Given the description of an element on the screen output the (x, y) to click on. 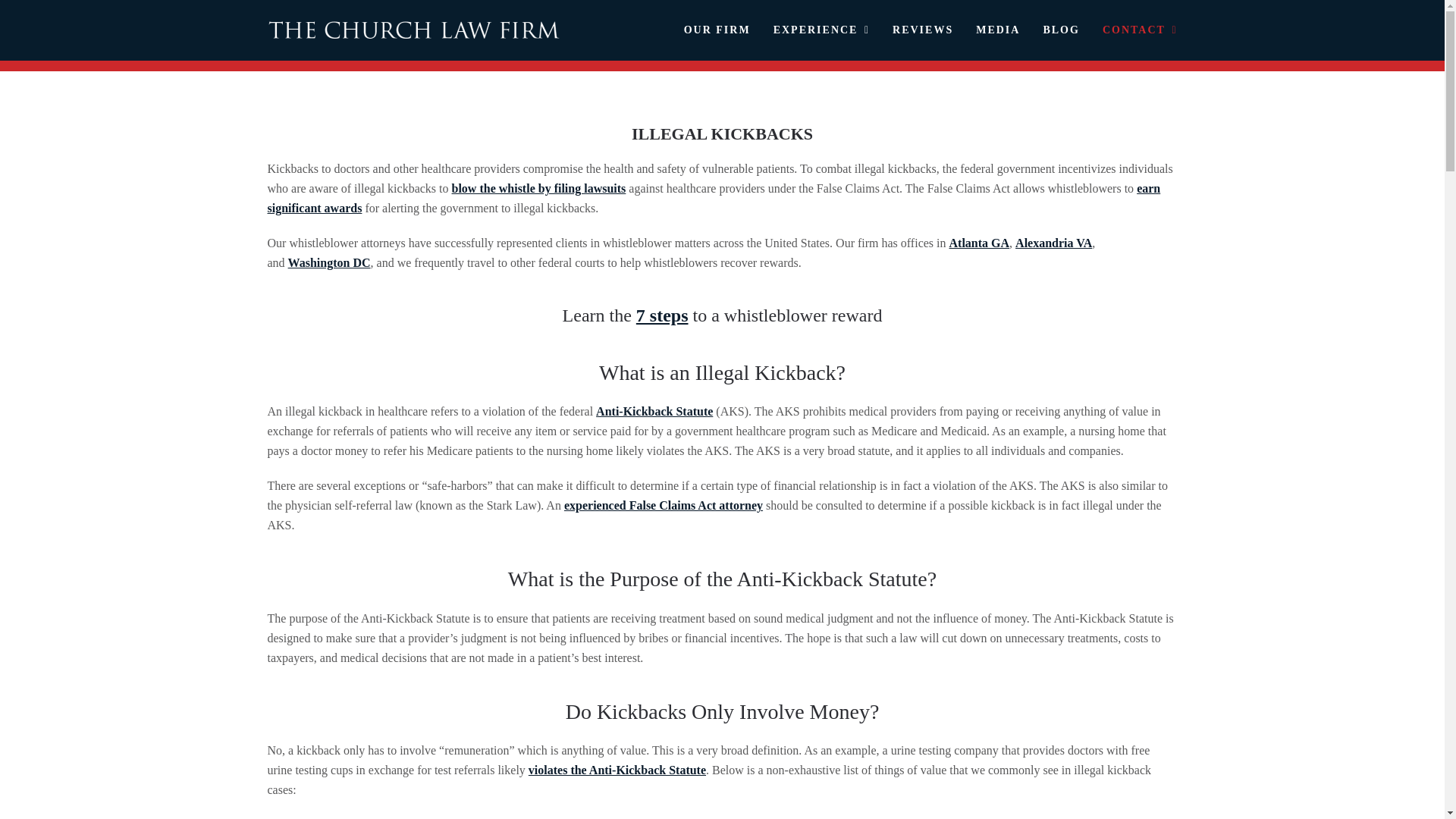
blow the whistle by filing lawsuits (538, 187)
Alexandria VA (1053, 242)
Washington DC (329, 262)
7 steps (662, 315)
MEDIA (996, 30)
BLOG (1060, 30)
experienced False Claims Act attorney (663, 504)
OUR FIRM (716, 30)
earn significant awards (713, 197)
REVIEWS (921, 30)
Atlanta GA (979, 242)
violates the Anti-Kickback Statute (617, 769)
EXPERIENCE (820, 30)
Anti-Kickback Statute (654, 410)
CONTACT (1139, 30)
